Given the description of an element on the screen output the (x, y) to click on. 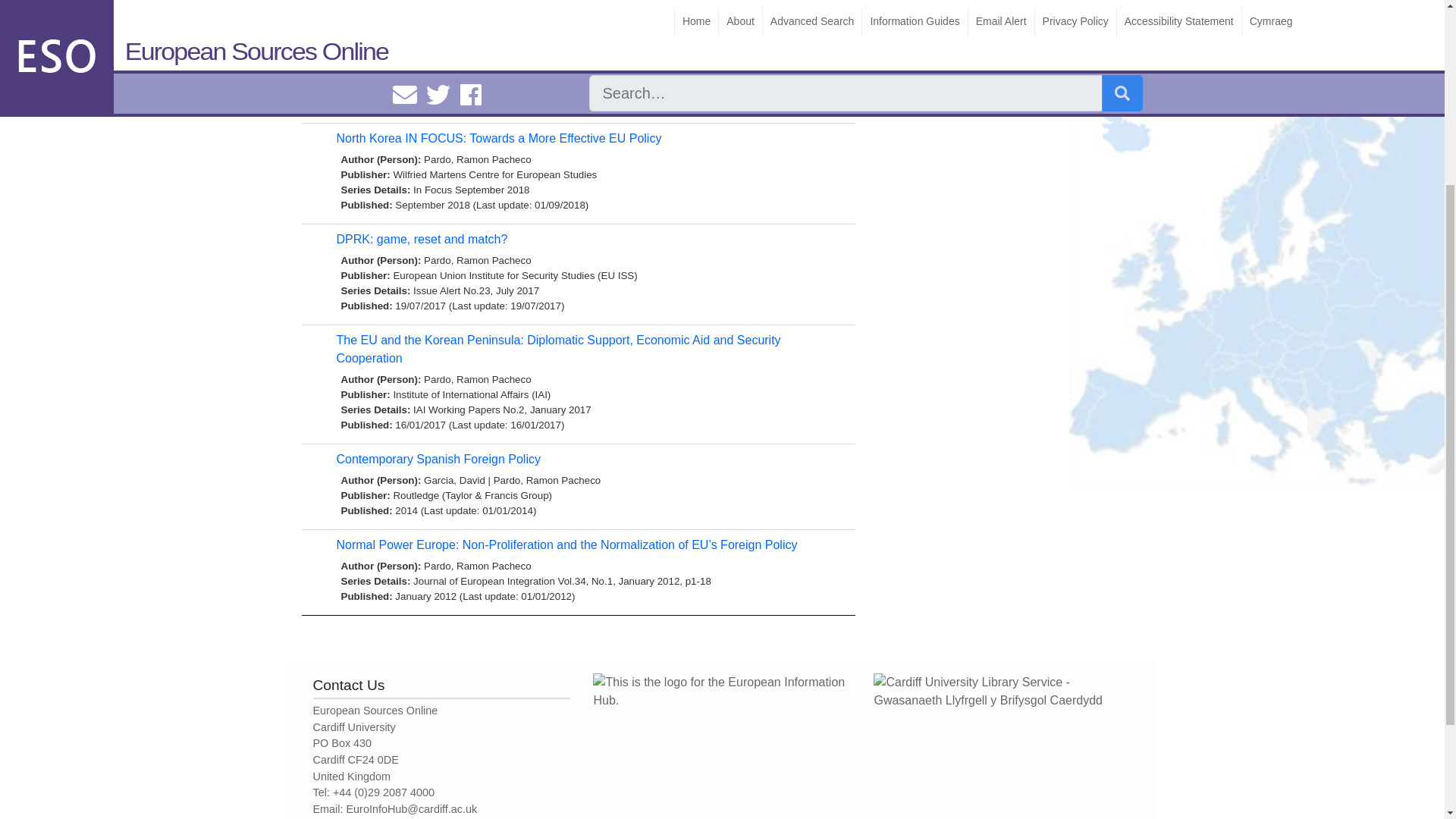
DPRK: game, reset and match? (422, 238)
North Korea IN FOCUS: Towards a More Effective EU Policy (499, 137)
In Focus (432, 189)
Bricknell, Martin (459, 59)
Pardo, Ramon Pacheco (477, 378)
EPRS In-Depth Analysis (467, 89)
IAI Working Papers (456, 409)
Pardo, Ramon Pacheco (477, 159)
Pardo, Ramon Pacheco (714, 59)
Meyer, Christoph O. (607, 59)
Pardo, Ramon Pacheco (477, 565)
Garcia, David (453, 480)
